Given the description of an element on the screen output the (x, y) to click on. 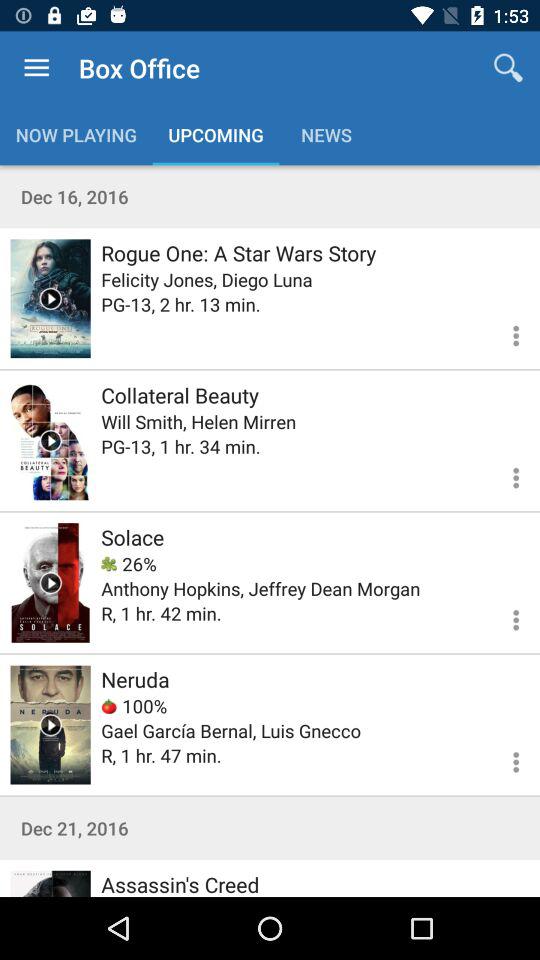
play solace movie (50, 582)
